Given the description of an element on the screen output the (x, y) to click on. 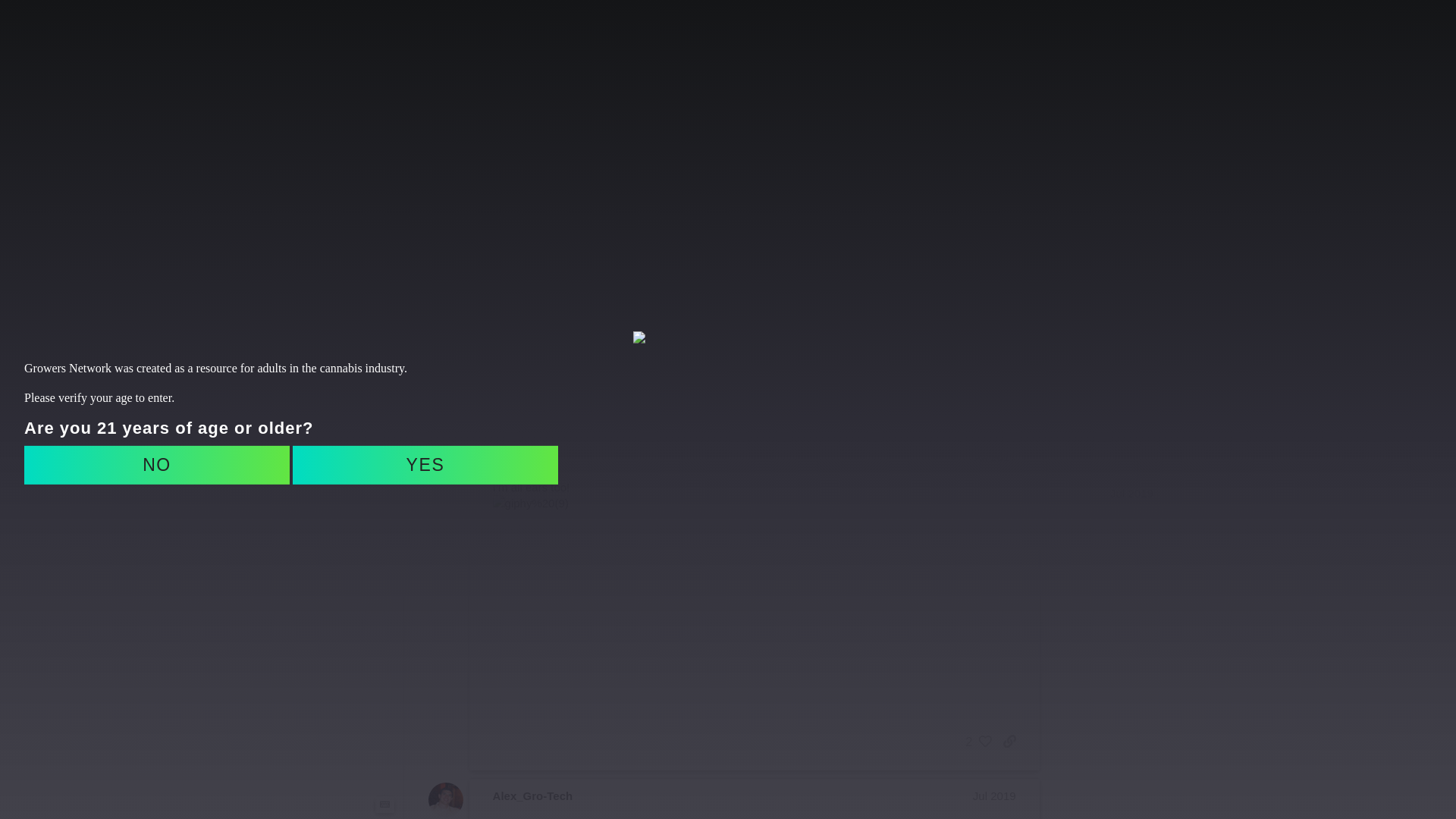
No (156, 464)
How much energy does your grow use? (590, 28)
University (306, 224)
Search (1222, 35)
SEEDS (901, 36)
Log In (1170, 36)
Hobbyist (306, 425)
Newbie (306, 449)
Toggle section (306, 151)
Growing (450, 171)
